Given the description of an element on the screen output the (x, y) to click on. 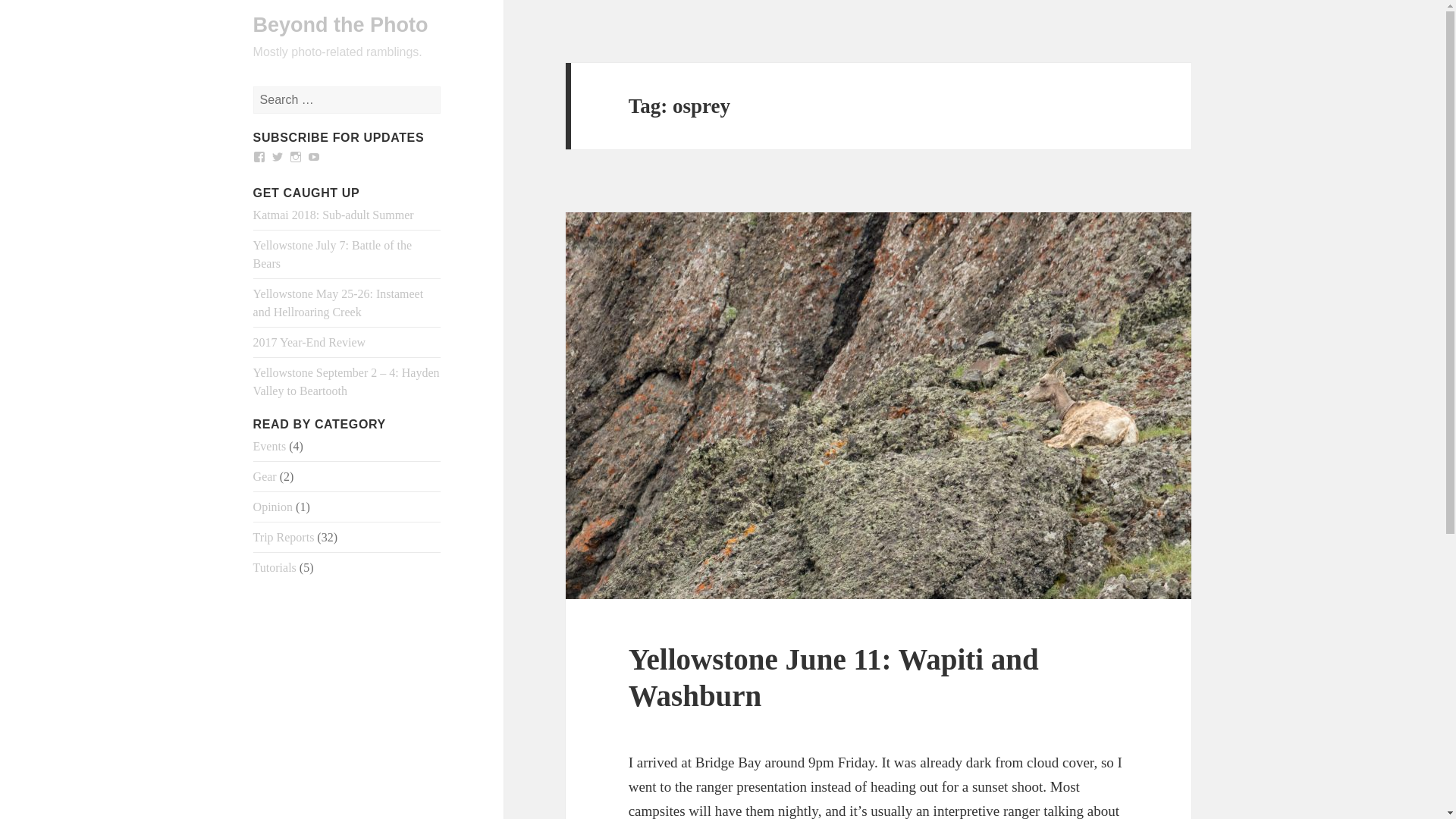
Opinion (272, 506)
2017 Year-End Review (309, 341)
Trip Reports (283, 536)
Beyond the Photo (340, 24)
Gear (264, 476)
